Given the description of an element on the screen output the (x, y) to click on. 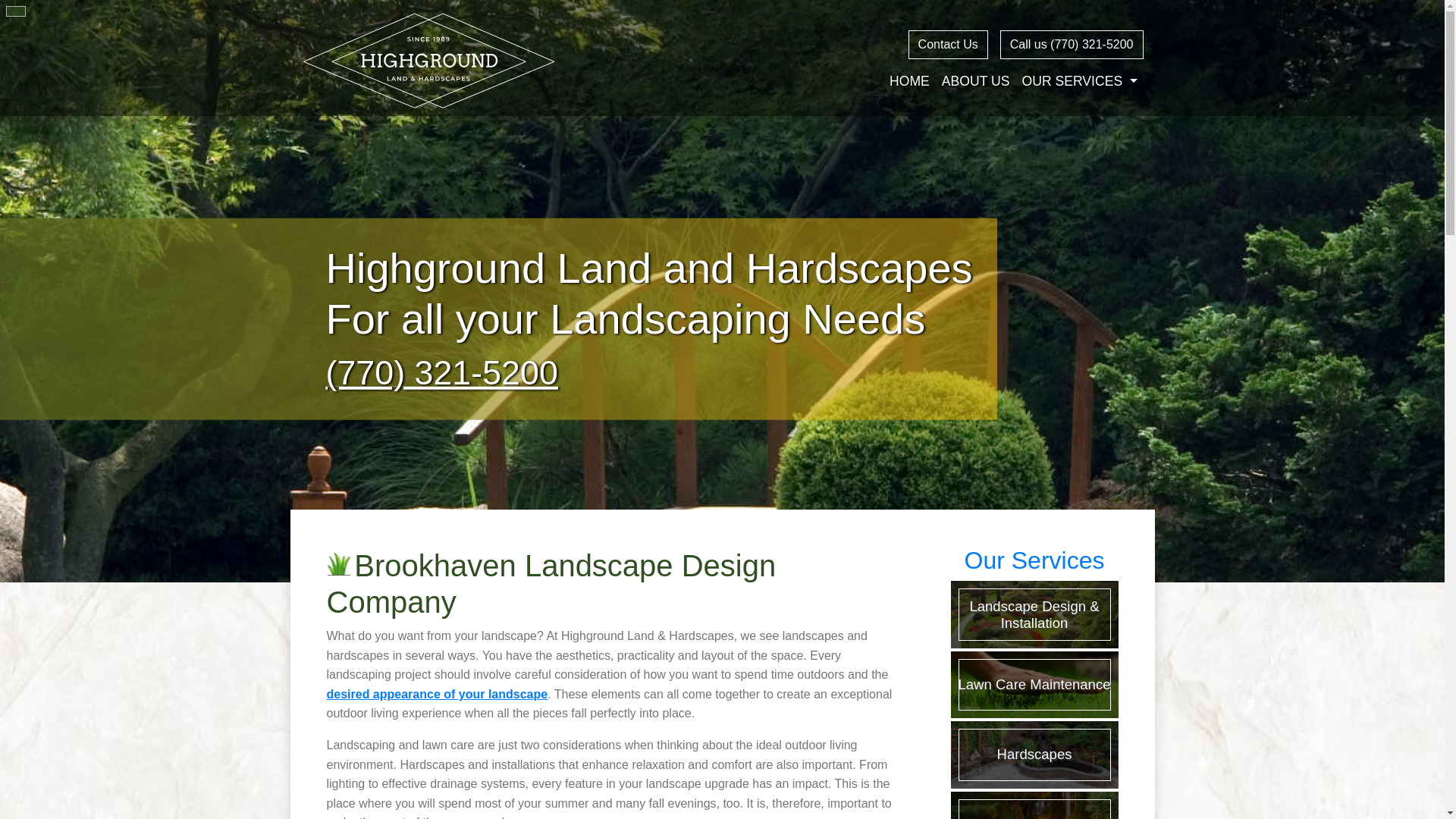
Lawn Care Maintenance (1034, 684)
Hardscapes (1034, 754)
HOME (909, 81)
Skip to main content (10, 5)
Landscape Design Services near Brookhaven GA (436, 694)
ABOUT US (976, 81)
desired appearance of your landscape (436, 694)
Outdoor Lighting (1034, 805)
Contact Us (948, 44)
OUR SERVICES (1078, 81)
